Given the description of an element on the screen output the (x, y) to click on. 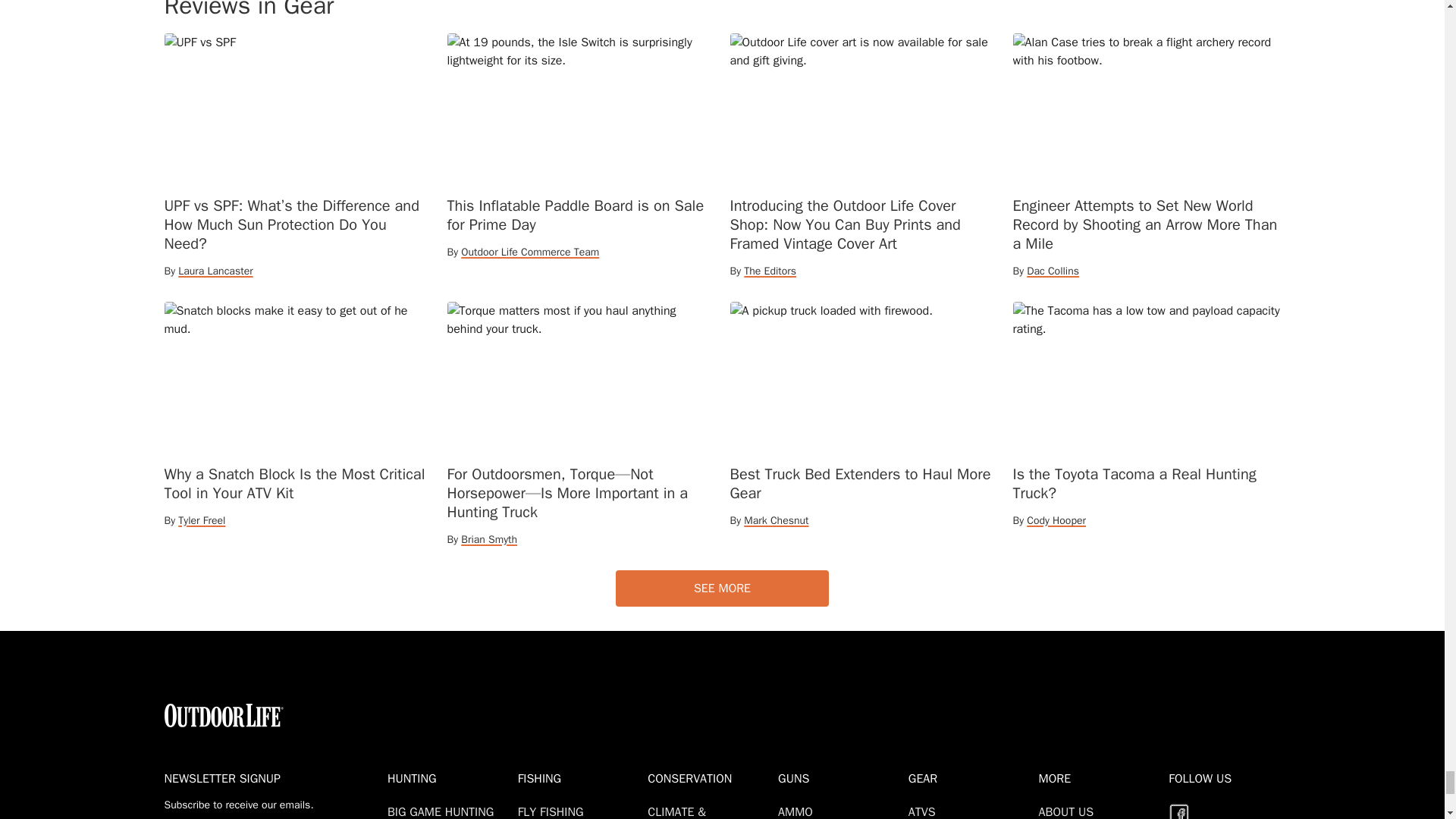
Conservation (709, 778)
Fishing (580, 778)
Big Game Hunting (443, 811)
Hunting (449, 778)
Fly Fishing (553, 811)
